Given the description of an element on the screen output the (x, y) to click on. 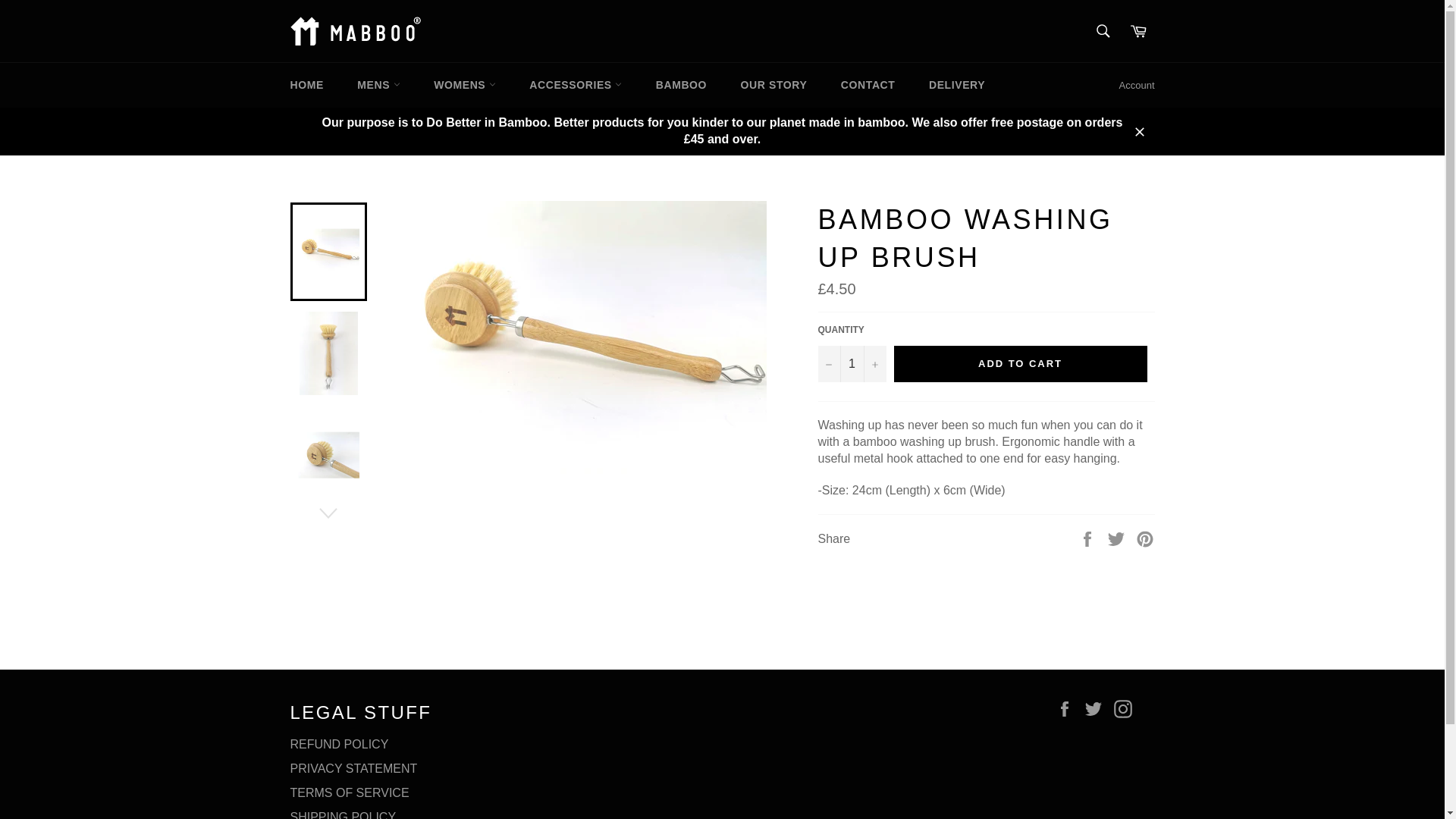
1 (850, 363)
Mabboo on Instagram (1125, 709)
Share on Facebook (1088, 537)
Cart (1138, 30)
Search (1103, 30)
Mabboo on Twitter (1096, 709)
Pin on Pinterest (1144, 537)
Tweet on Twitter (1117, 537)
HOME (306, 85)
MENS (378, 85)
Mabboo on Facebook (1068, 709)
